Given the description of an element on the screen output the (x, y) to click on. 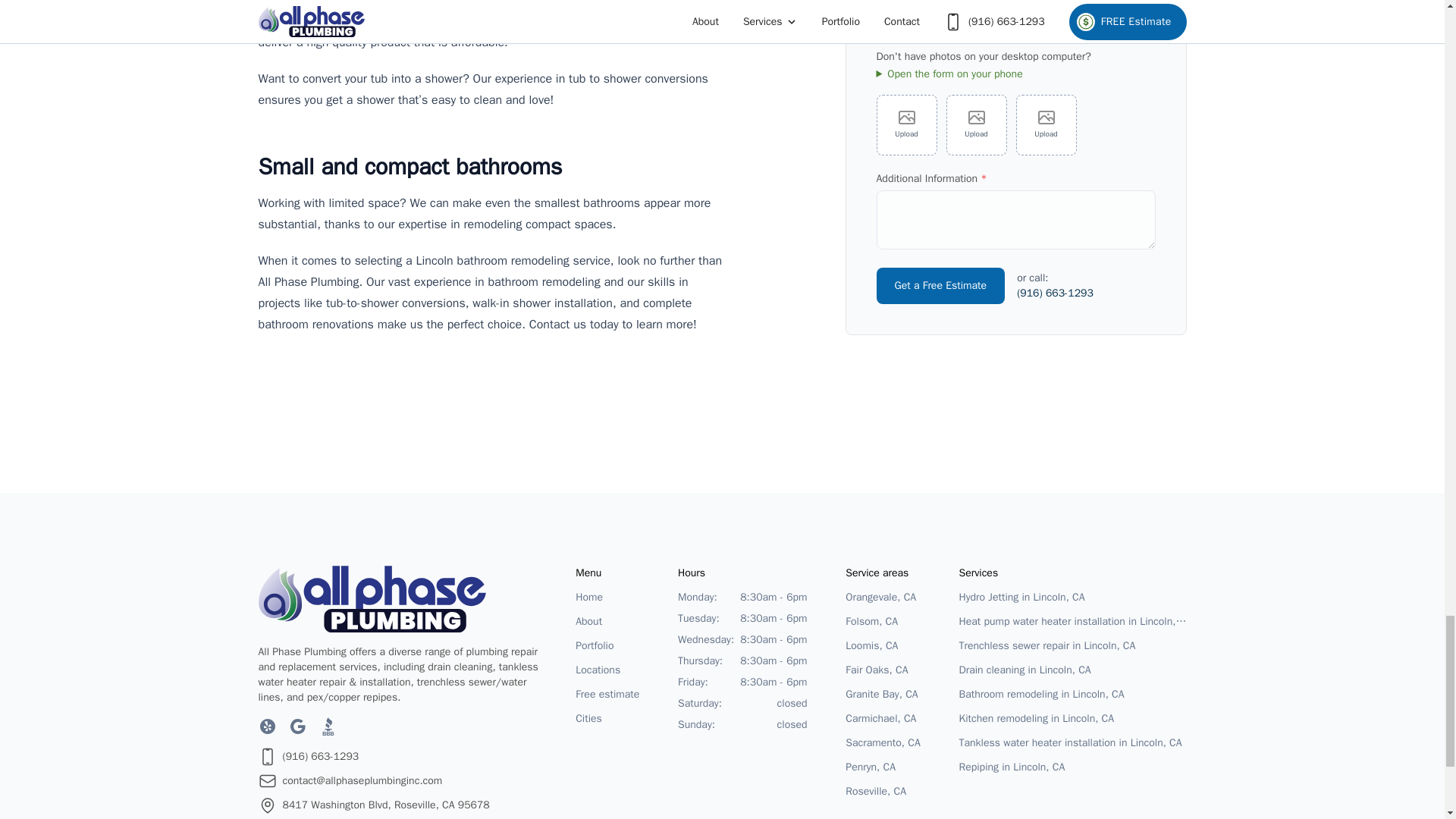
Portfolio (607, 645)
Cities (607, 718)
Free estimate (607, 694)
Home (607, 597)
Orangevale, CA (883, 597)
About (607, 621)
Locations (607, 670)
